Given the description of an element on the screen output the (x, y) to click on. 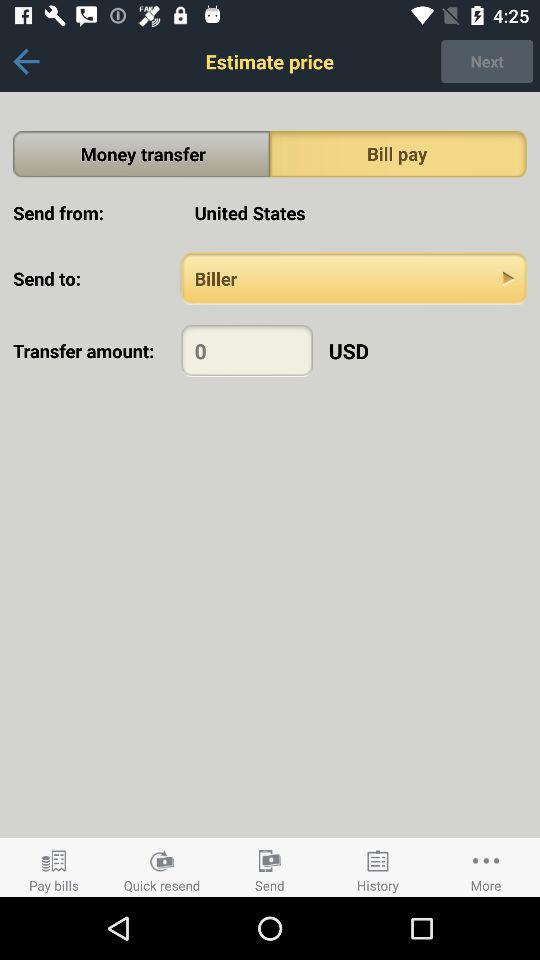
choose the item above the send from: (141, 154)
